Given the description of an element on the screen output the (x, y) to click on. 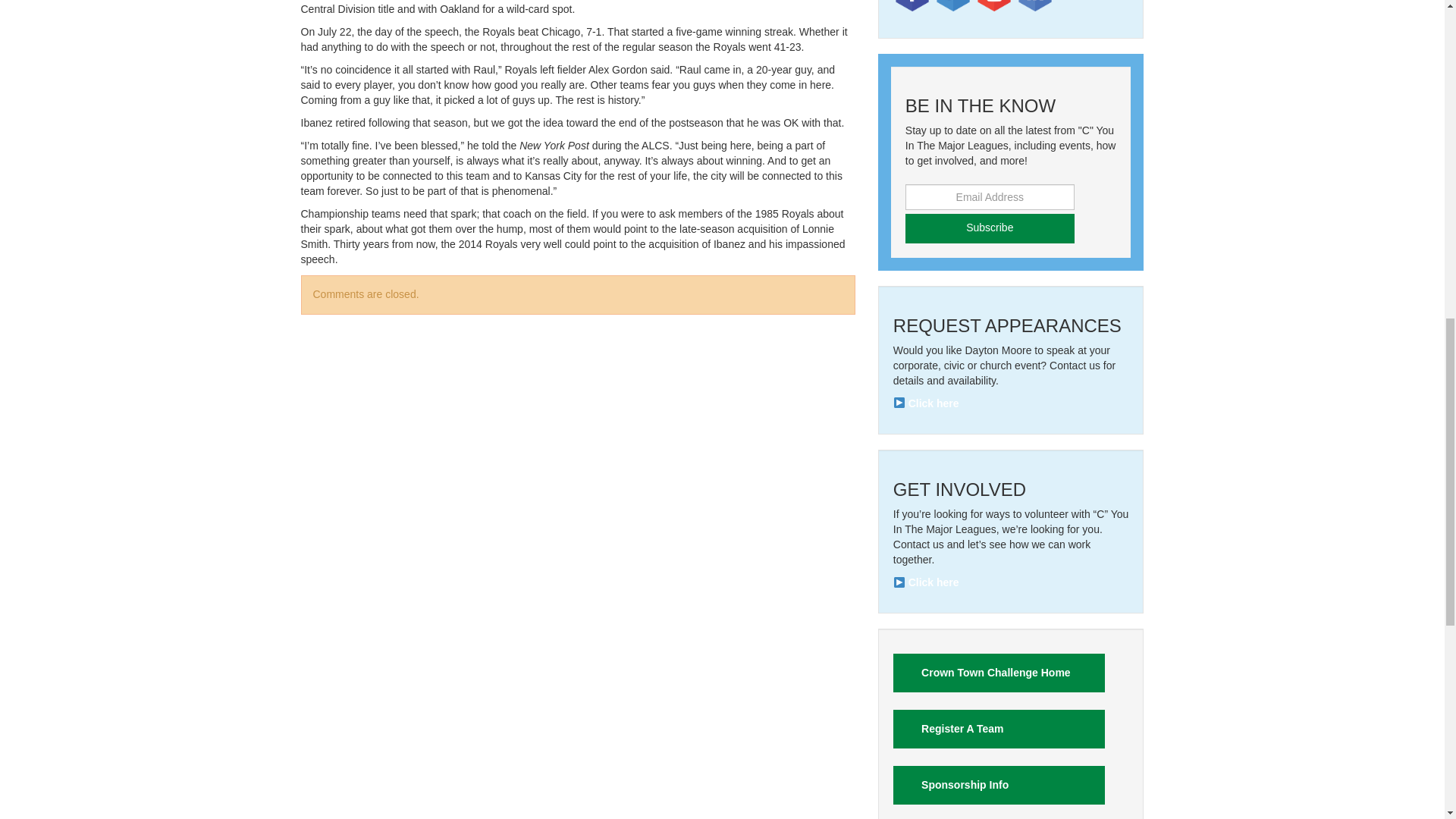
Subscribe (989, 228)
